Given the description of an element on the screen output the (x, y) to click on. 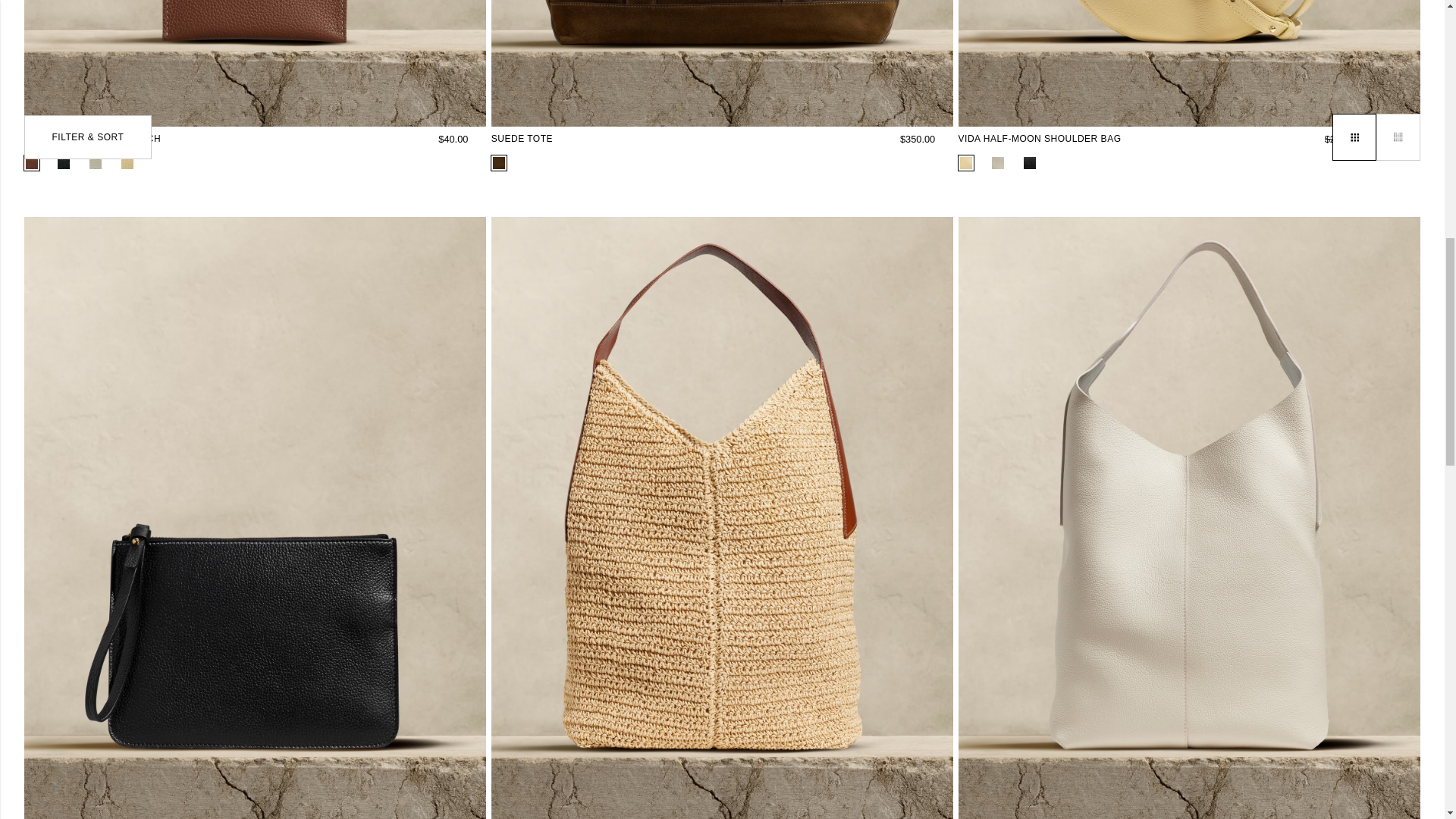
yellow (965, 162)
beige (997, 162)
black (1029, 162)
black (63, 162)
yellow (126, 162)
brown (31, 162)
beige (94, 162)
brown (499, 162)
LEATHER ENVELOPE POUCH (101, 138)
